Given the description of an element on the screen output the (x, y) to click on. 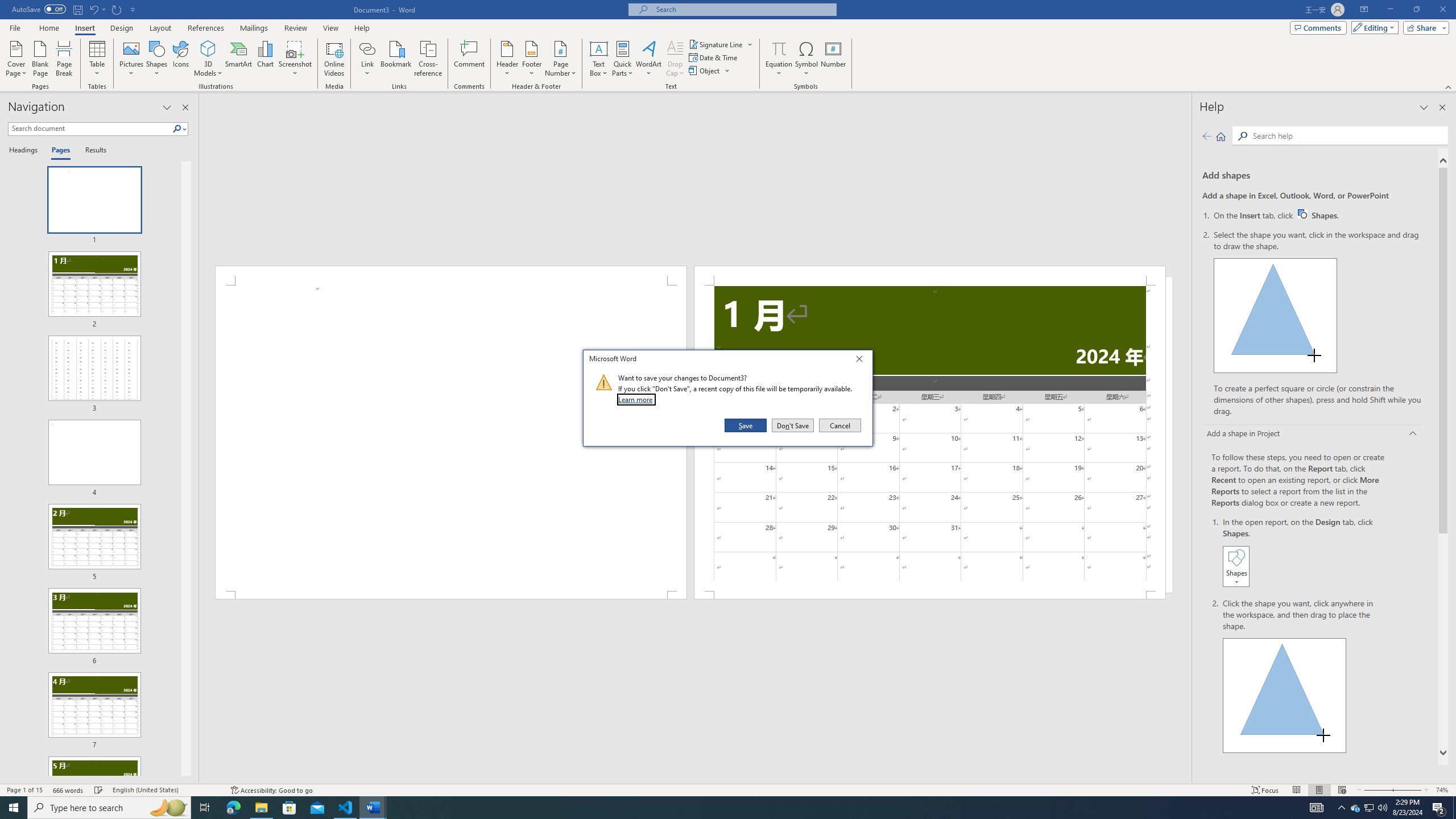
Running applications (717, 807)
Headings (25, 150)
Visual Studio Code - 1 running window (345, 807)
Start (13, 807)
Icons (180, 58)
Microsoft Store (289, 807)
Task View (204, 807)
Microsoft search (742, 9)
Search document (89, 128)
